Given the description of an element on the screen output the (x, y) to click on. 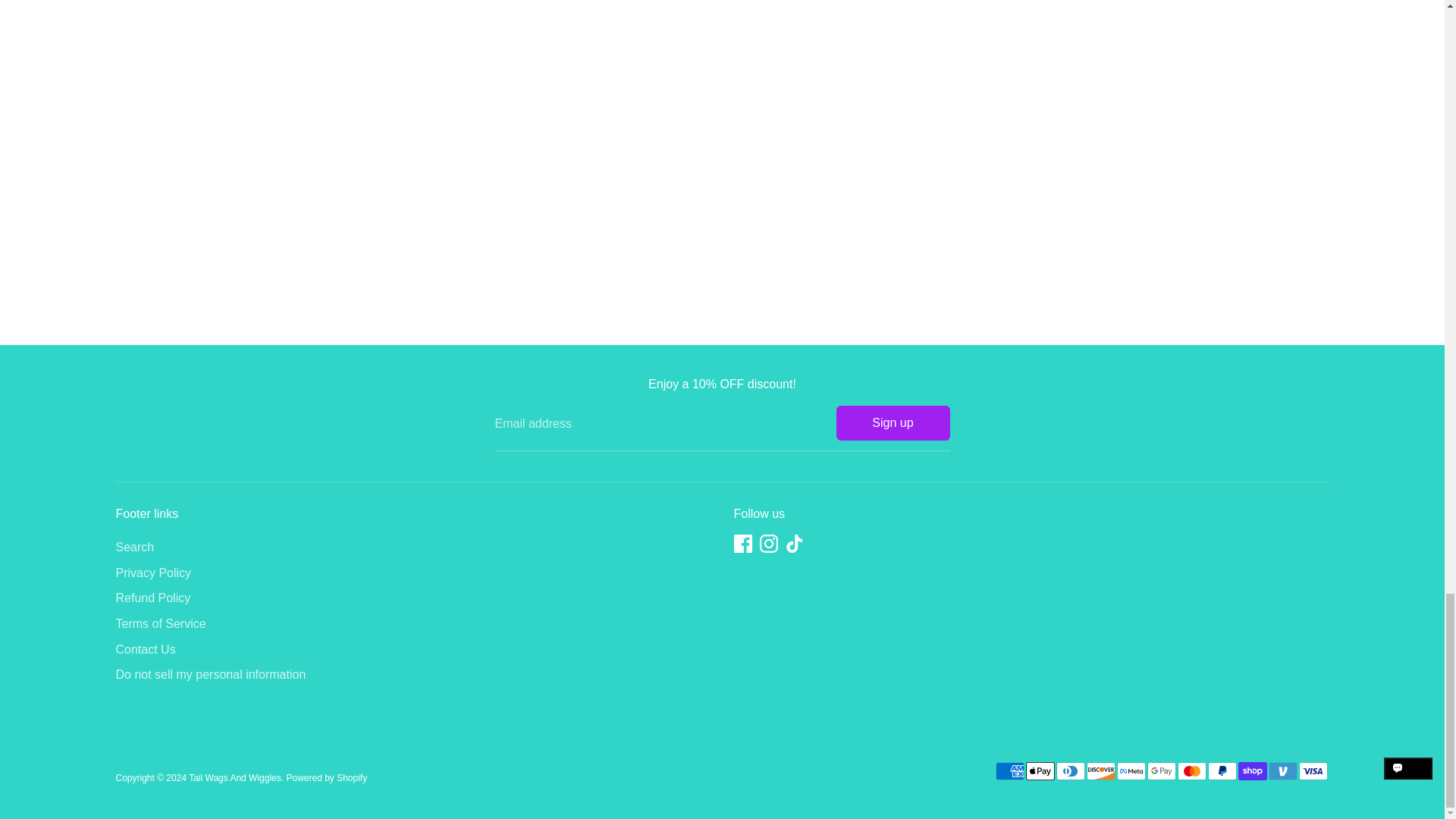
Meta Pay (1130, 771)
Apple Pay (1039, 771)
Mastercard (1190, 771)
Discover (1100, 771)
American Express (1008, 771)
Google Pay (1160, 771)
Diners Club (1069, 771)
